Given the description of an element on the screen output the (x, y) to click on. 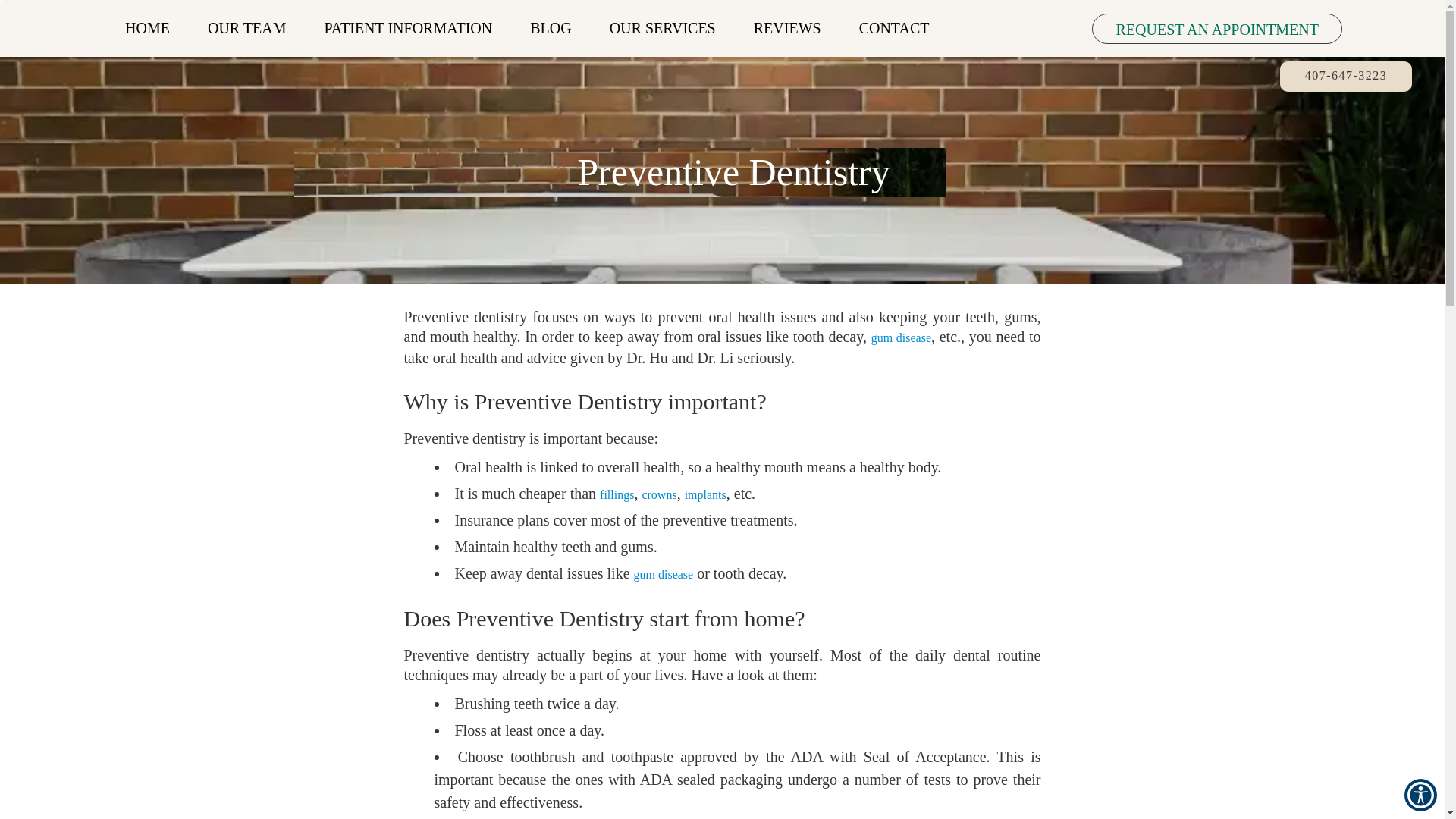
BLOG (550, 28)
OUR SERVICES (662, 28)
CONTACT (893, 28)
REVIEWS (787, 28)
PATIENT INFORMATION (408, 28)
OUR TEAM (247, 28)
HOME (146, 28)
